Given the description of an element on the screen output the (x, y) to click on. 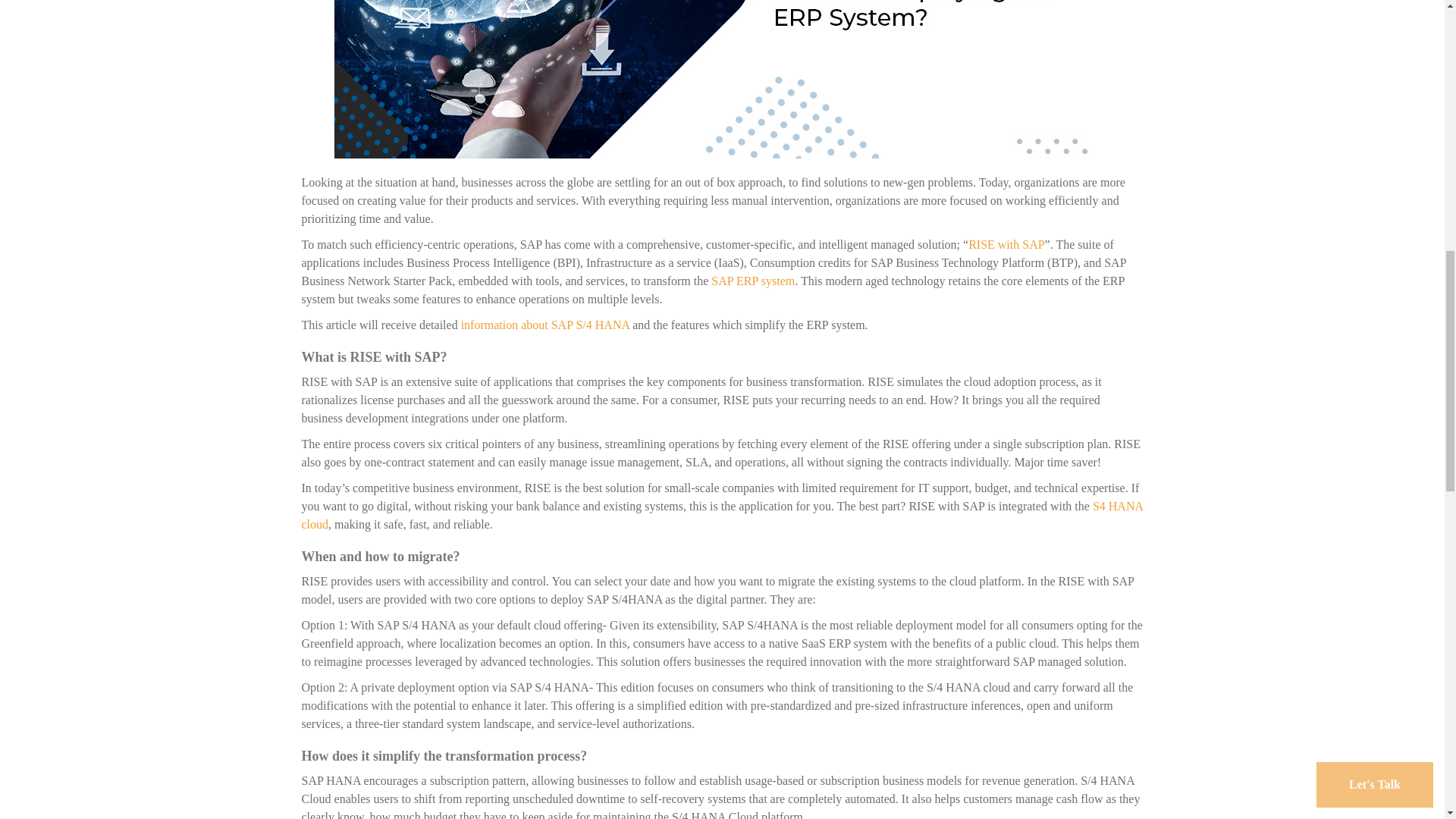
S4 HANA cloud (721, 514)
SAP ERP system (752, 280)
RISE with SAP (1005, 244)
